Given the description of an element on the screen output the (x, y) to click on. 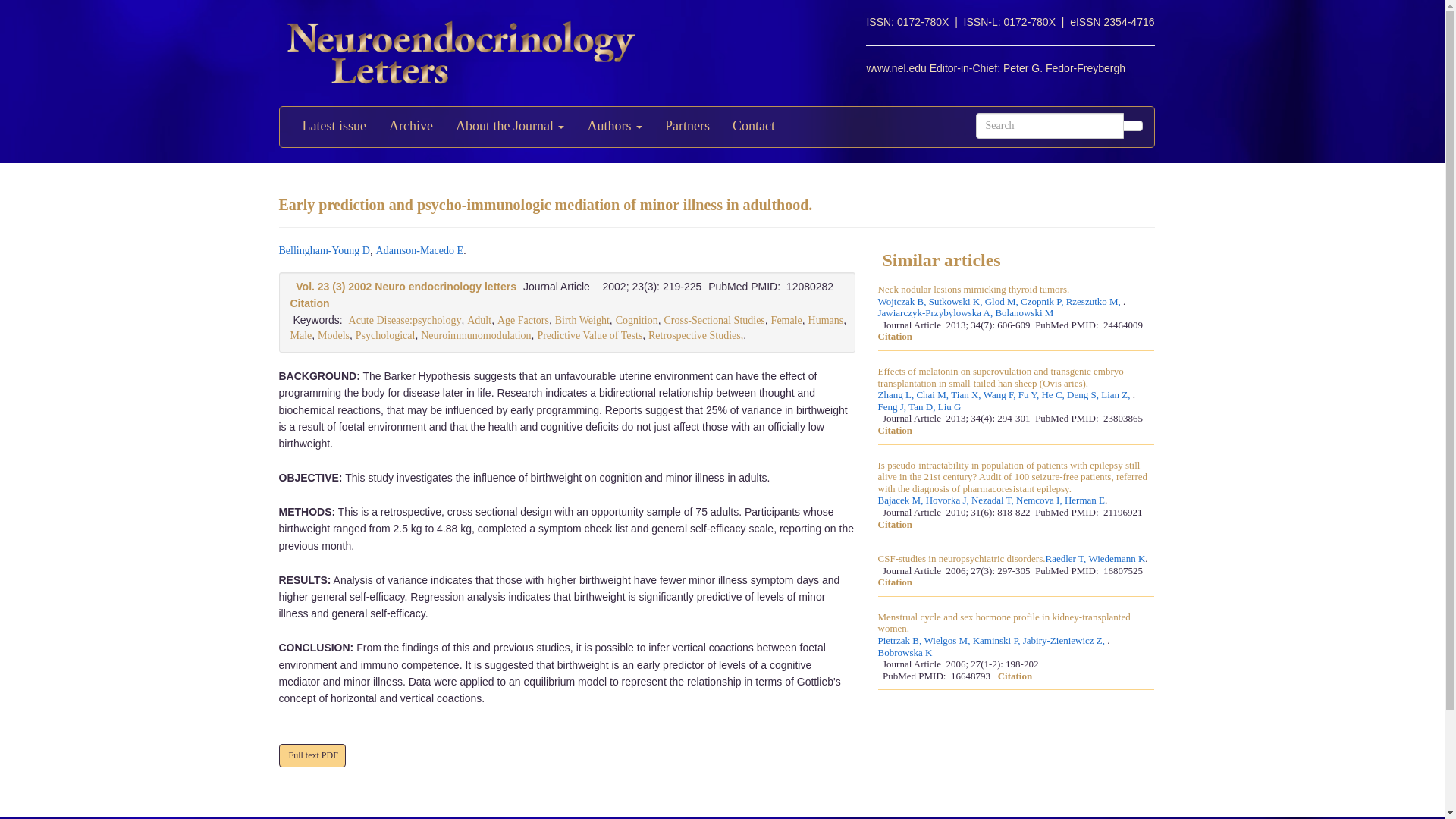
Age Factors (522, 319)
Adamson-Macedo E (419, 250)
Cognition (636, 319)
Latest issue (334, 127)
Retrospective Studies, (694, 335)
 Full text PDF (312, 755)
Acute Disease:psychology (405, 319)
NEL230302A03.pdf (312, 755)
Wojtczak B,  (902, 301)
Neck nodular lesions mimicking thyroid tumors. (973, 289)
Female (786, 319)
Models (333, 335)
Bellingham-Young D (324, 250)
Humans (826, 319)
Neuroimmunomodulation (475, 335)
